Given the description of an element on the screen output the (x, y) to click on. 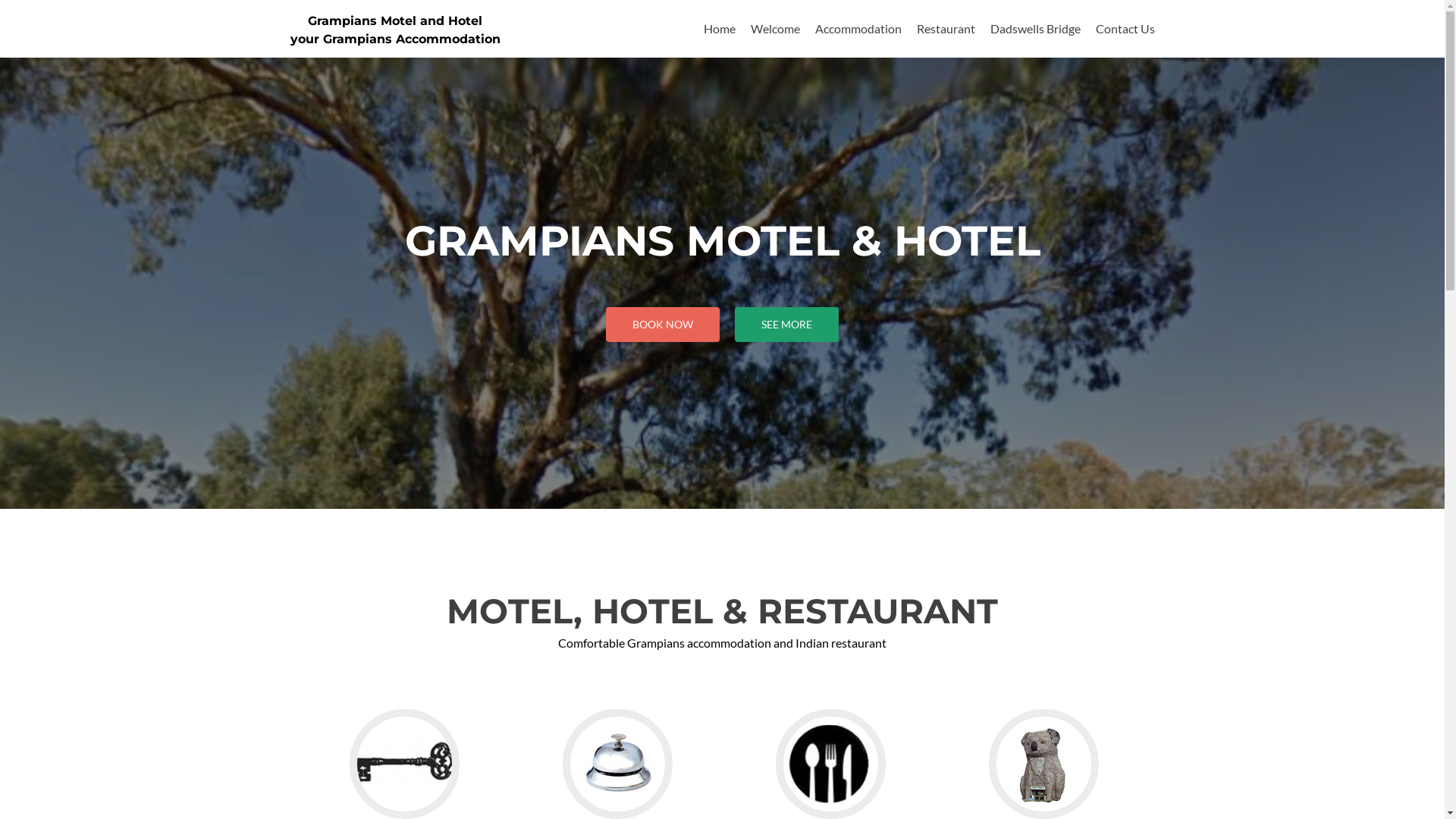
Welcome Element type: text (775, 28)
BOOK NOW Element type: text (662, 324)
Home Element type: text (719, 28)
Restaurant Element type: text (945, 28)
SEE MORE Element type: text (786, 324)
Grampians Motel and Hotel Element type: text (394, 20)
Accommodation Element type: text (857, 28)
Contact Us Element type: text (1124, 28)
Dadswells Bridge Element type: text (1035, 28)
